Given the description of an element on the screen output the (x, y) to click on. 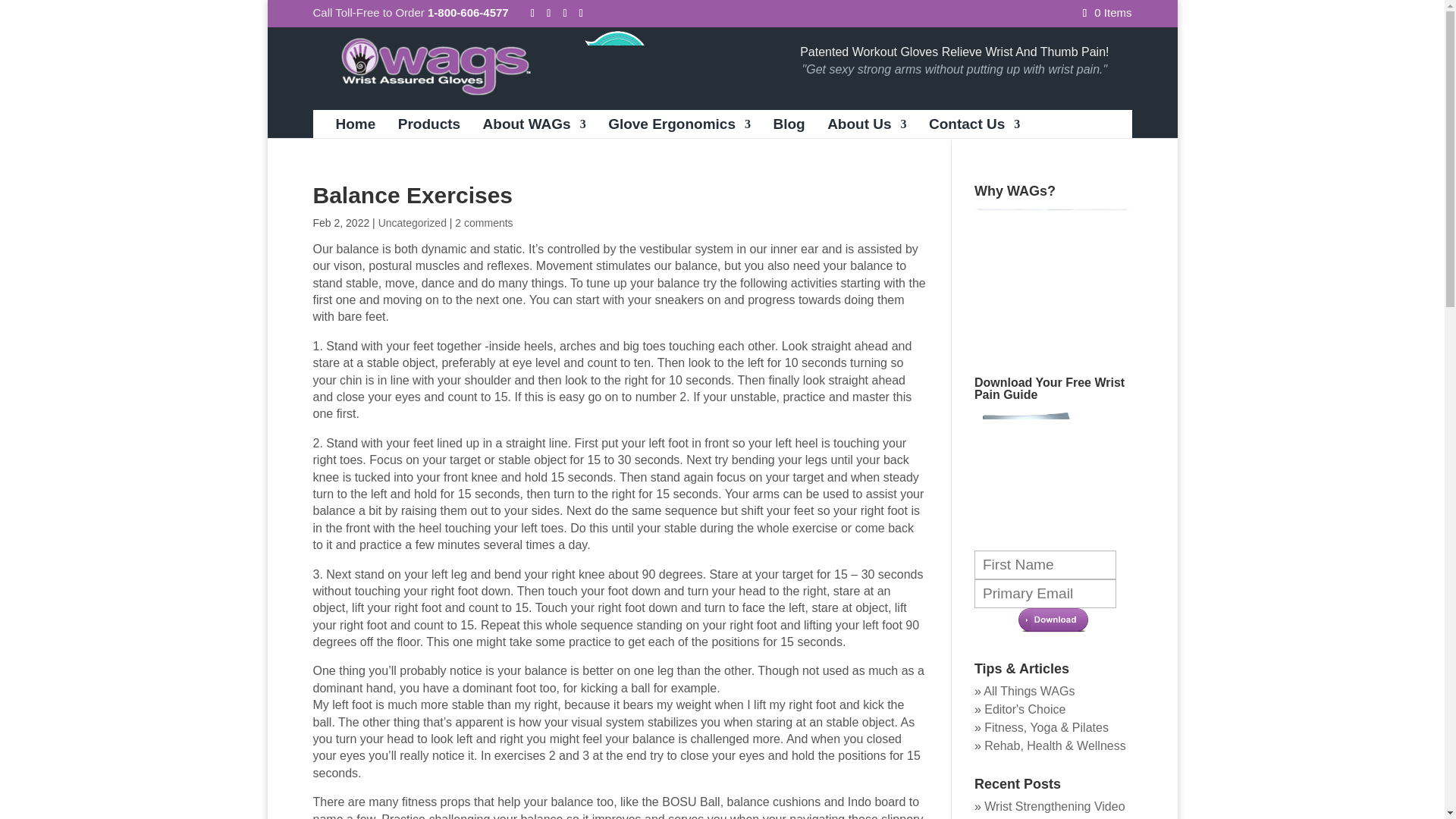
1-800-606-4577 (468, 11)
About WAGs (534, 128)
About Us (866, 128)
Submit (1052, 621)
Uncategorized (412, 223)
Blog (789, 128)
Wrist Strengthening Video (1054, 806)
Home (354, 128)
Products (428, 128)
Glove Ergonomics (679, 128)
